Given the description of an element on the screen output the (x, y) to click on. 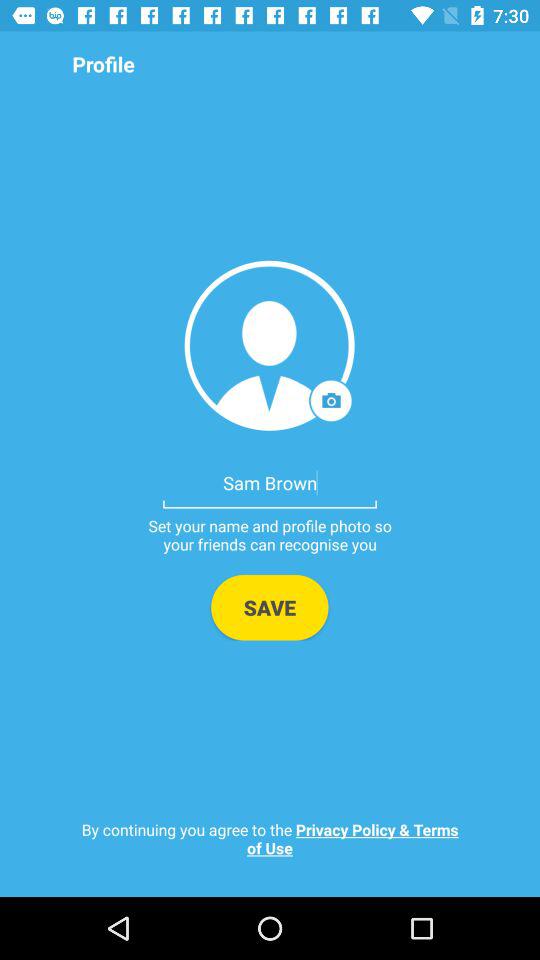
click by continuing you item (269, 838)
